Given the description of an element on the screen output the (x, y) to click on. 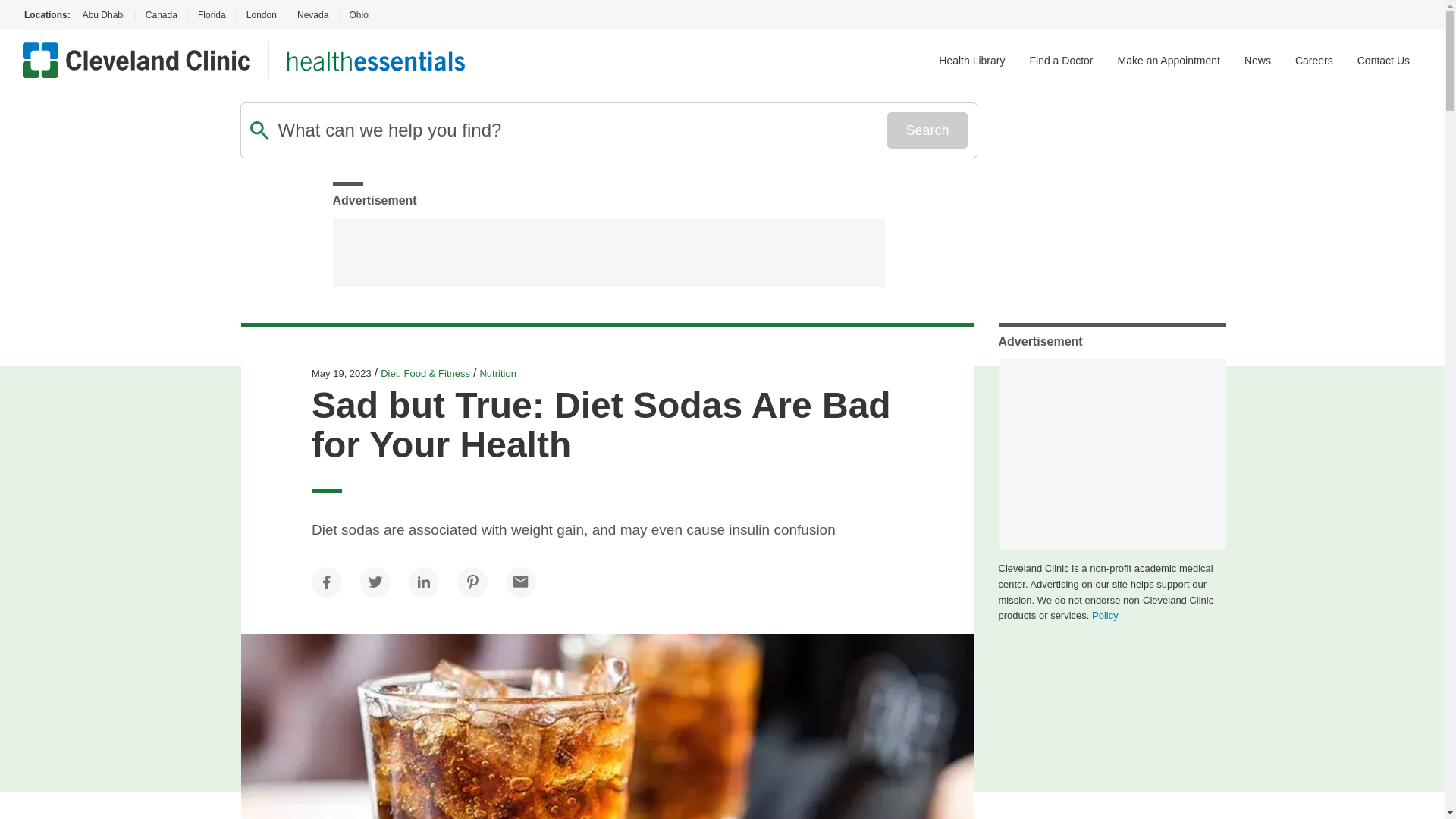
London (261, 15)
Health Library (971, 60)
Find a Doctor (1061, 60)
Careers (1314, 60)
Abu Dhabi (101, 15)
Contact Us (1382, 60)
Nevada (312, 15)
Nutrition (497, 373)
Canada (161, 15)
News (1257, 60)
